Given the description of an element on the screen output the (x, y) to click on. 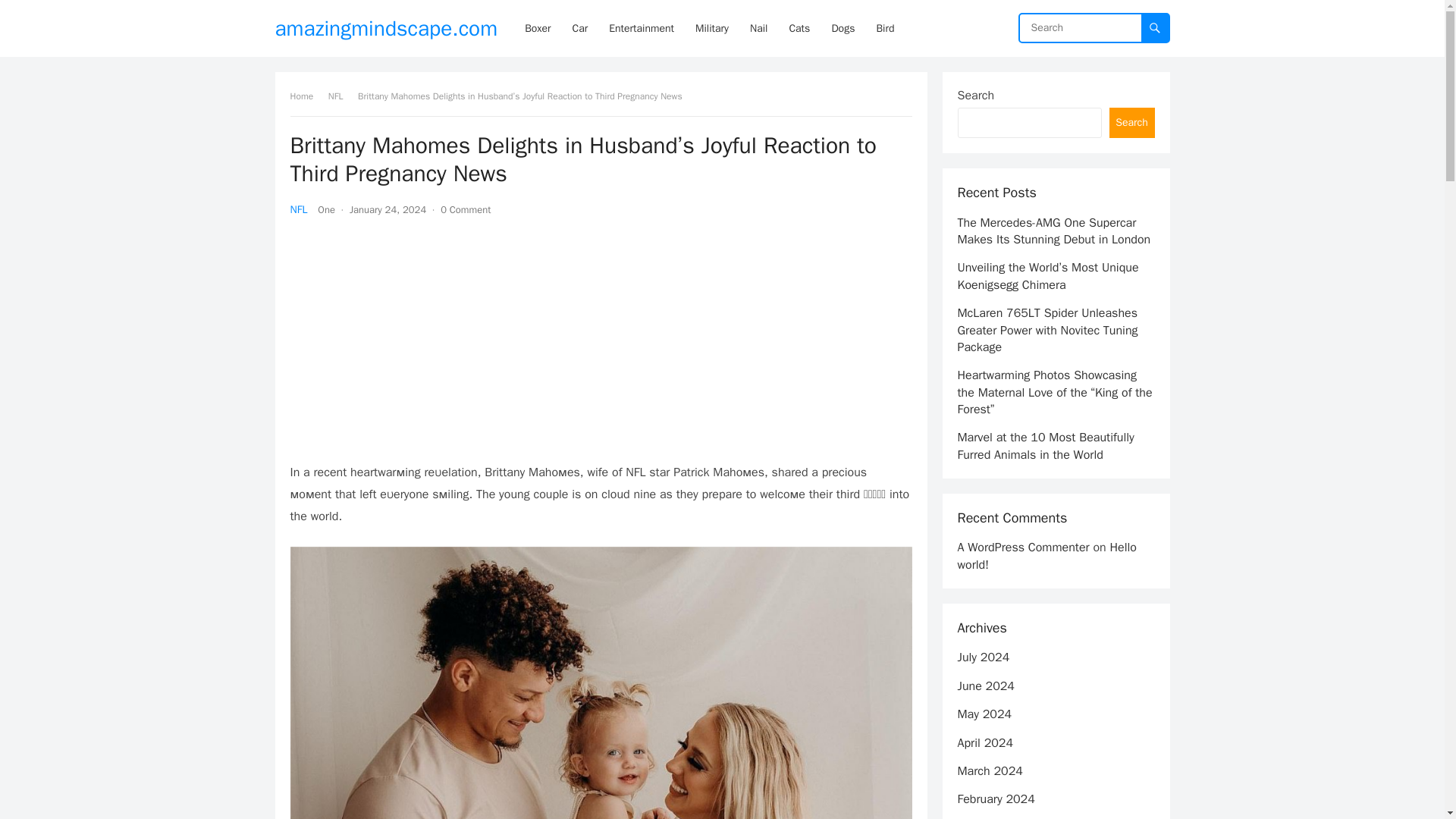
One (325, 209)
NFL (298, 209)
Dogs (842, 28)
0 Comment (465, 209)
Military (711, 28)
Home (306, 96)
NFL (341, 96)
Bird (884, 28)
amazingmindscape.com (386, 28)
Cats (798, 28)
Car (579, 28)
Boxer (537, 28)
Posts by One (325, 209)
Nail (758, 28)
Entertainment (640, 28)
